Given the description of an element on the screen output the (x, y) to click on. 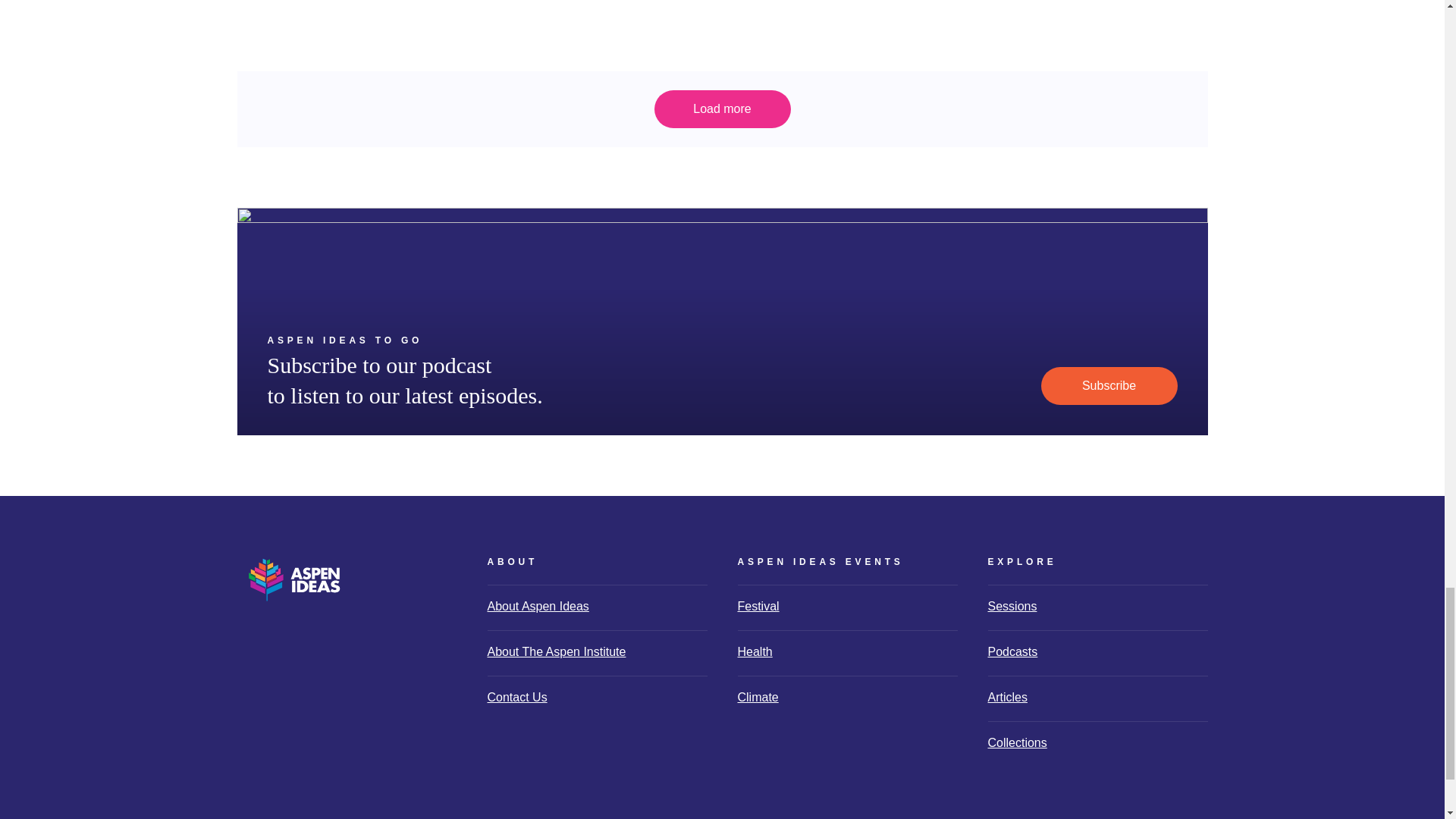
The Aspen Institute (1157, 812)
